Given the description of an element on the screen output the (x, y) to click on. 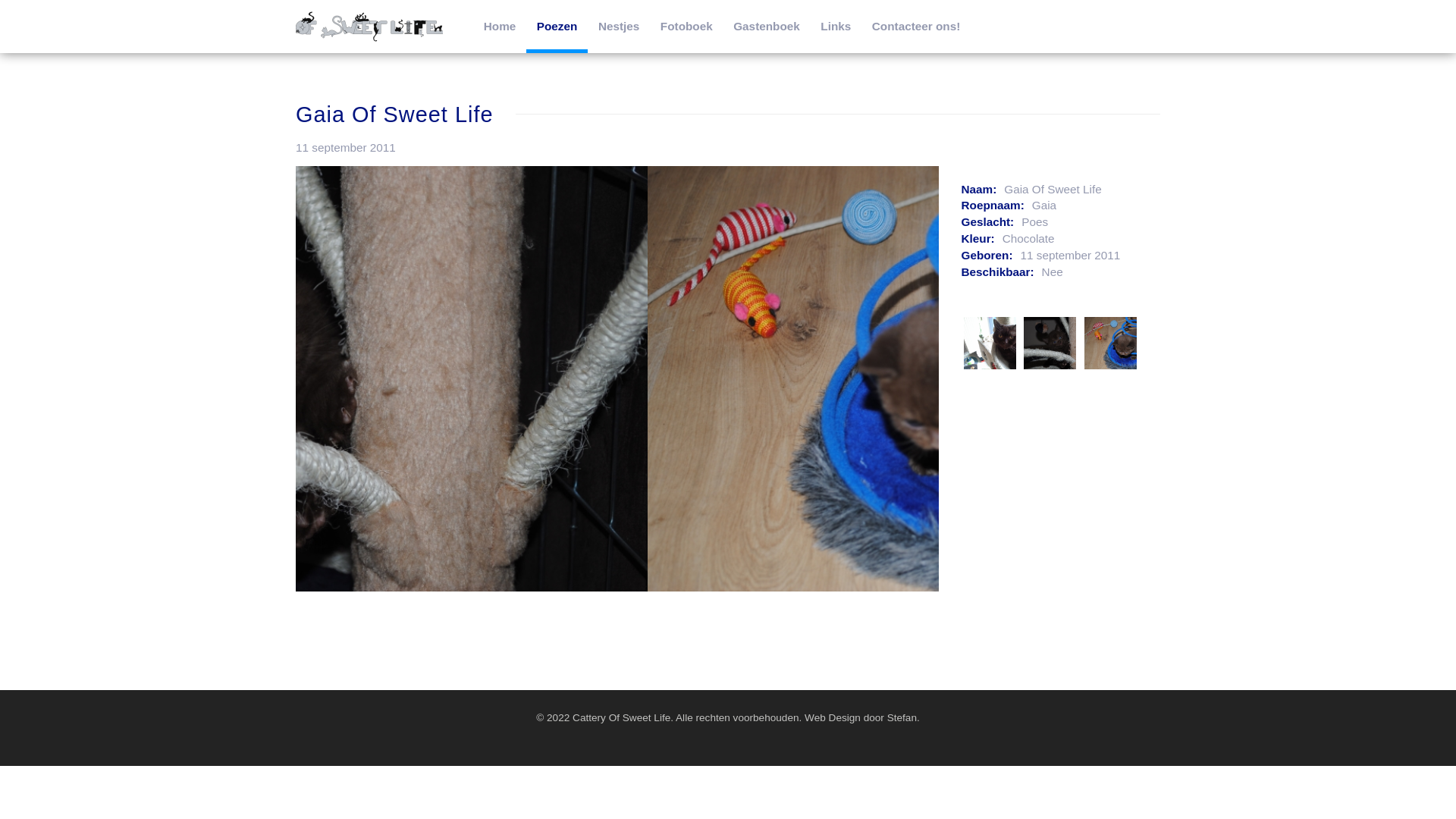
Nestjes Element type: text (618, 26)
Fotoboek Element type: text (685, 26)
Gastenboek Element type: text (765, 26)
Poezen Element type: text (556, 28)
Contacteer ons! Element type: text (915, 26)
Links Element type: text (835, 26)
Home Element type: text (499, 26)
